Given the description of an element on the screen output the (x, y) to click on. 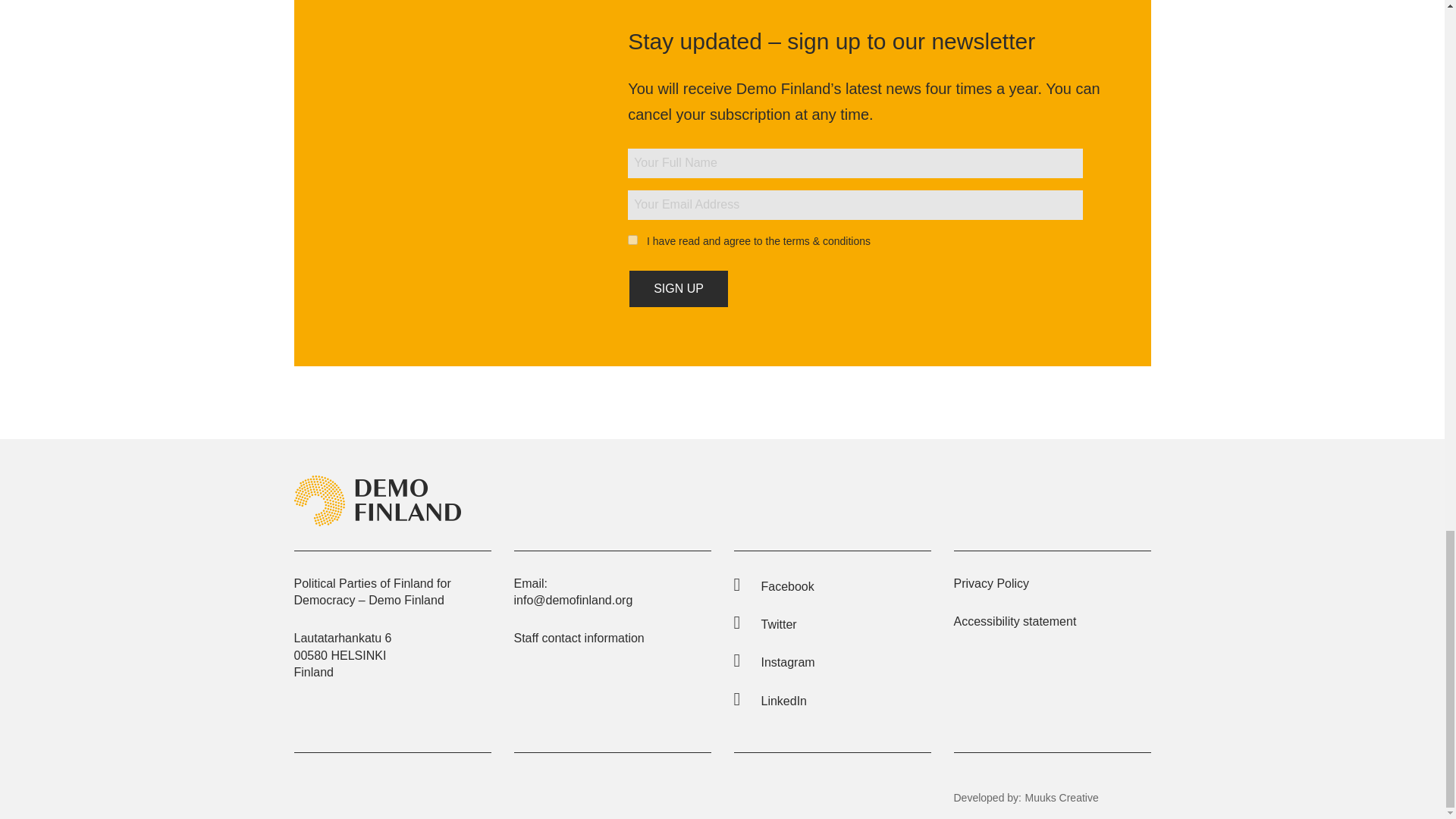
Instagram (774, 662)
Sign Up (678, 288)
Facebook (773, 585)
LinkedIn (770, 700)
1 (632, 239)
Twitter (764, 624)
